Given the description of an element on the screen output the (x, y) to click on. 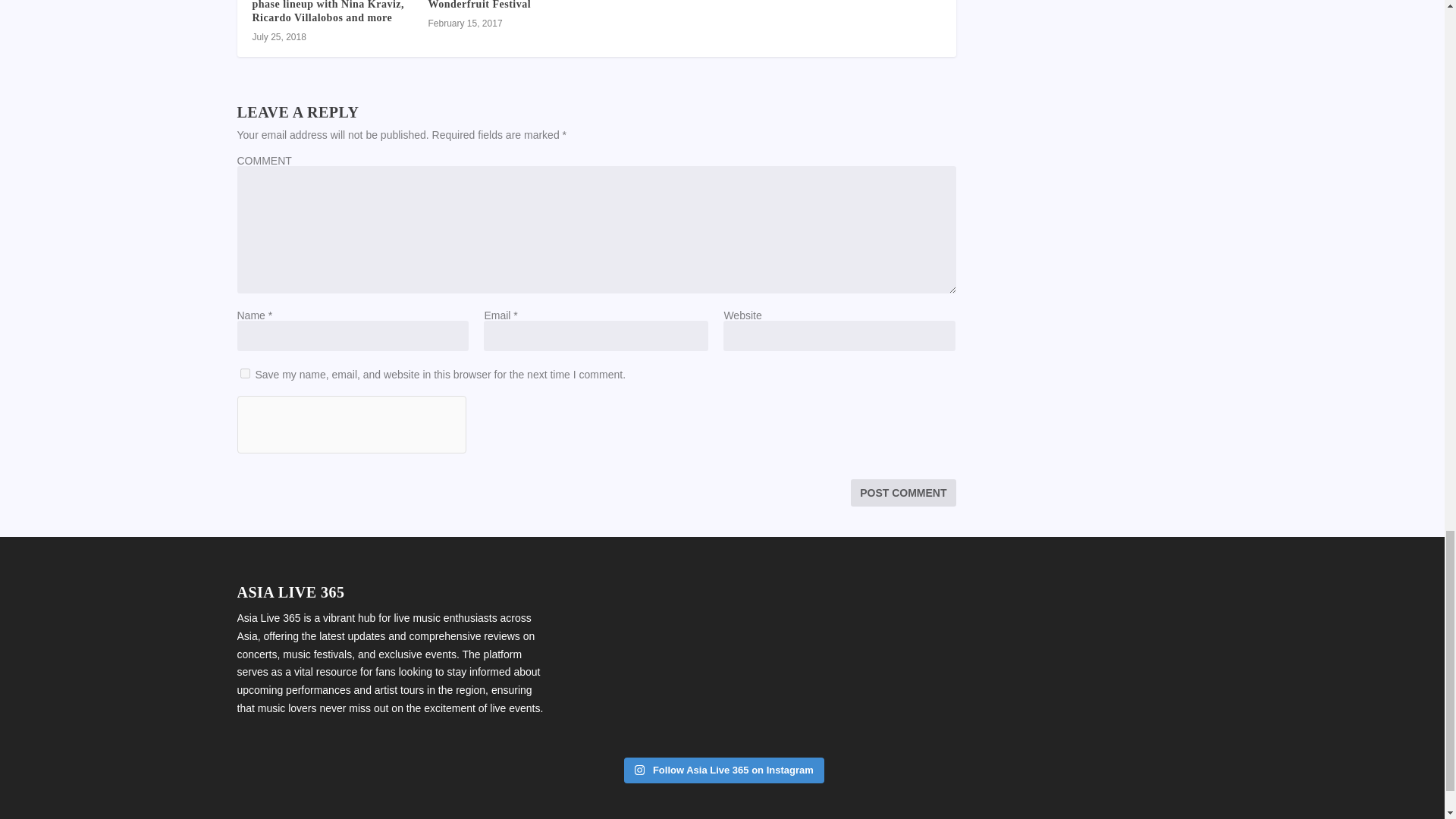
yes (244, 373)
Post Comment (902, 492)
